Given the description of an element on the screen output the (x, y) to click on. 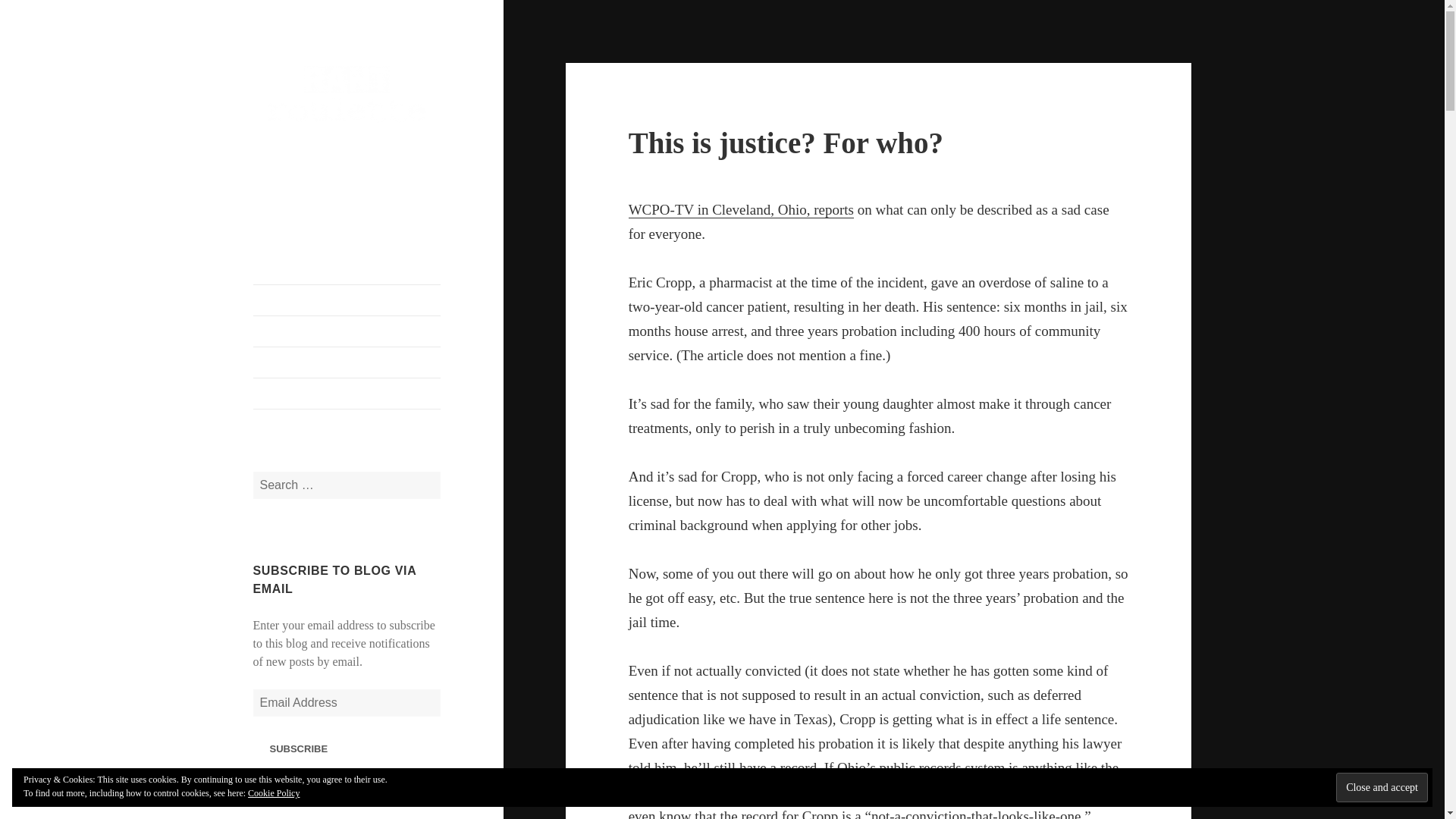
Contact (347, 331)
SUBSCRIBE (299, 748)
BitTorrent info (347, 393)
Rant Roulette (320, 148)
Conventions (347, 362)
Close and accept (1382, 787)
